Given the description of an element on the screen output the (x, y) to click on. 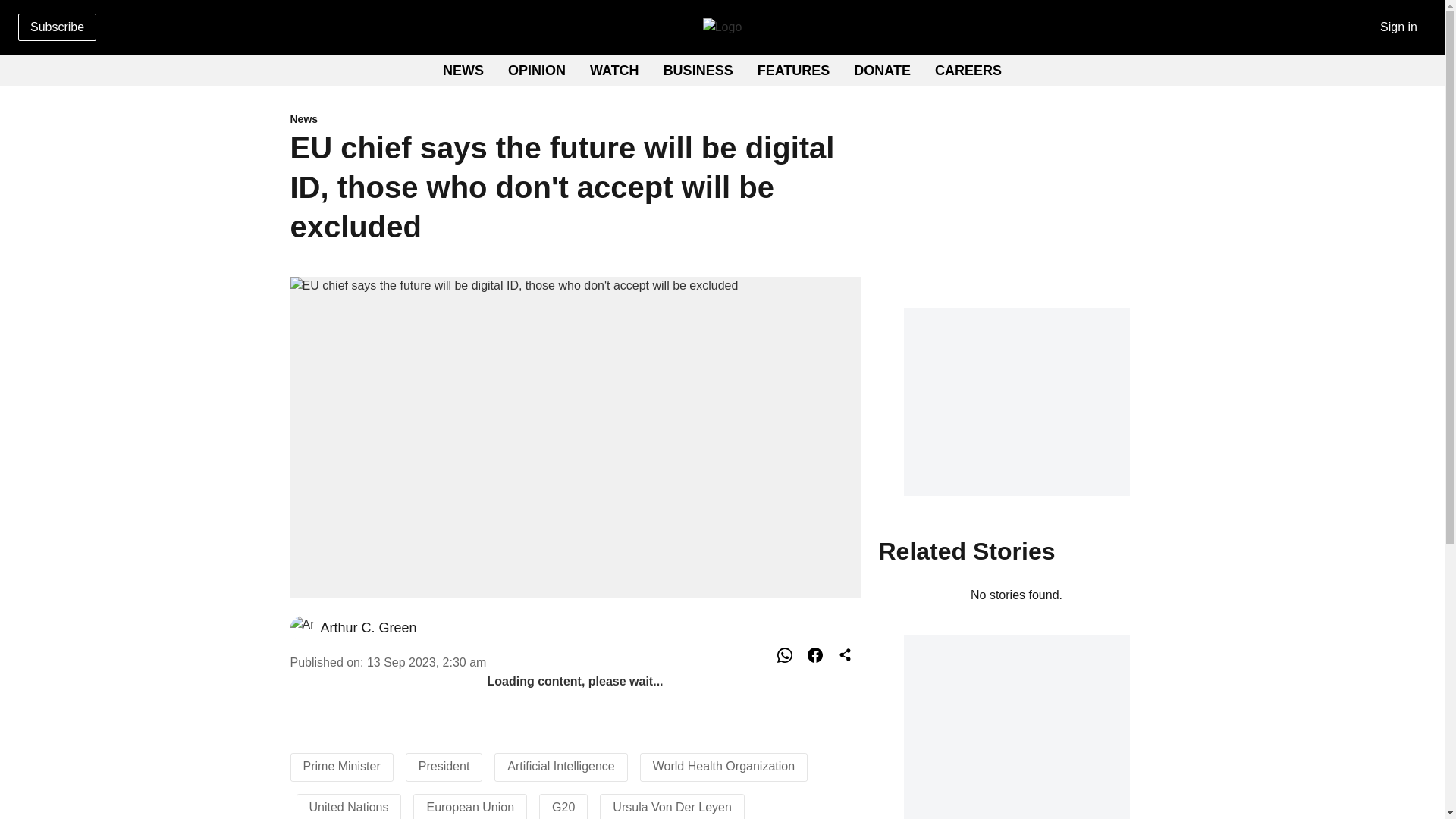
Prime Minister (721, 70)
BUSINESS (341, 766)
DONATE (698, 70)
WATCH (882, 70)
FEATURES (614, 70)
CAREERS (793, 70)
Arthur C. Green (967, 70)
News (368, 627)
